Given the description of an element on the screen output the (x, y) to click on. 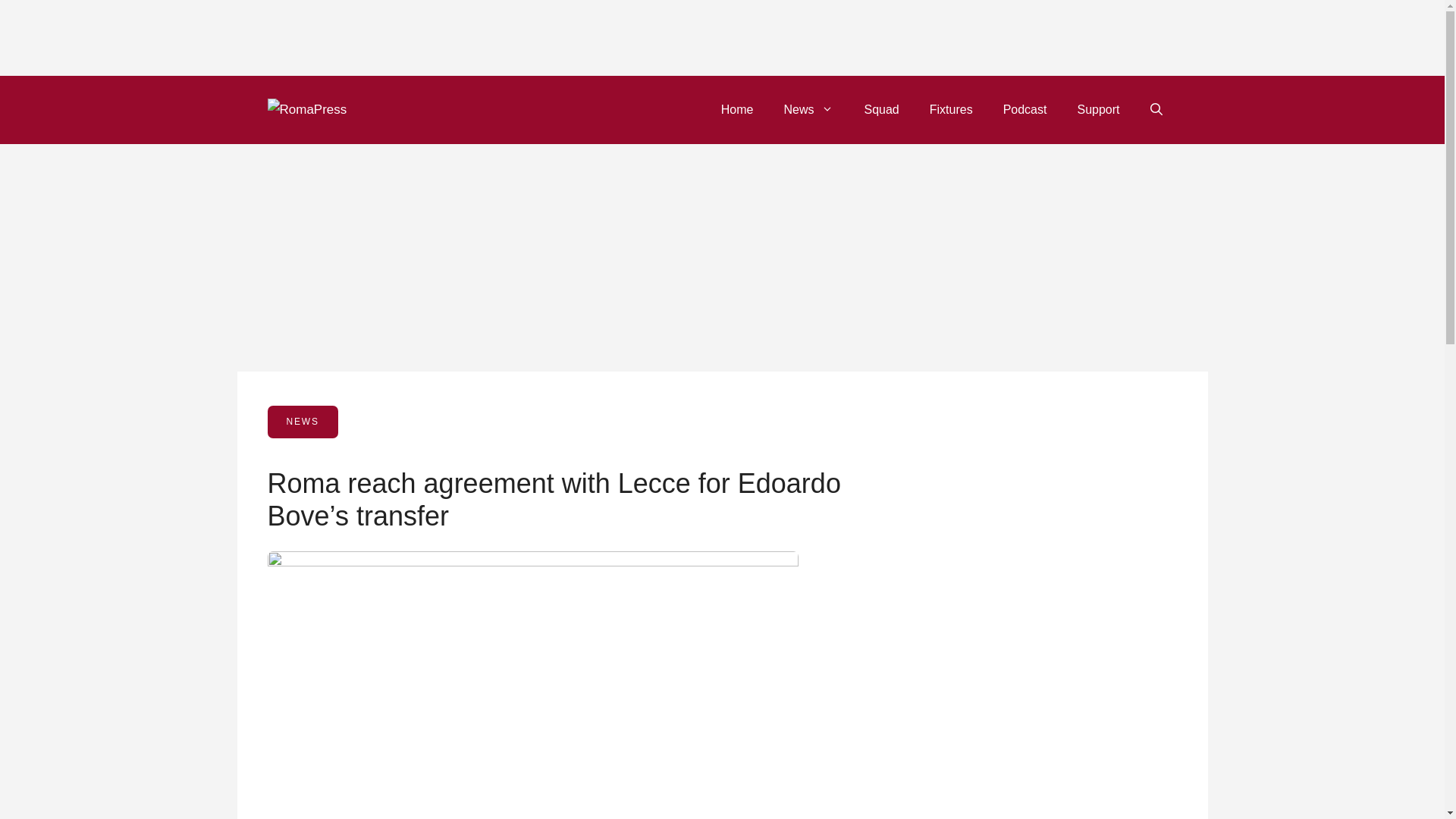
Support (1097, 109)
News (808, 109)
Home (737, 109)
Squad (881, 109)
Fixtures (951, 109)
Podcast (1025, 109)
